Given the description of an element on the screen output the (x, y) to click on. 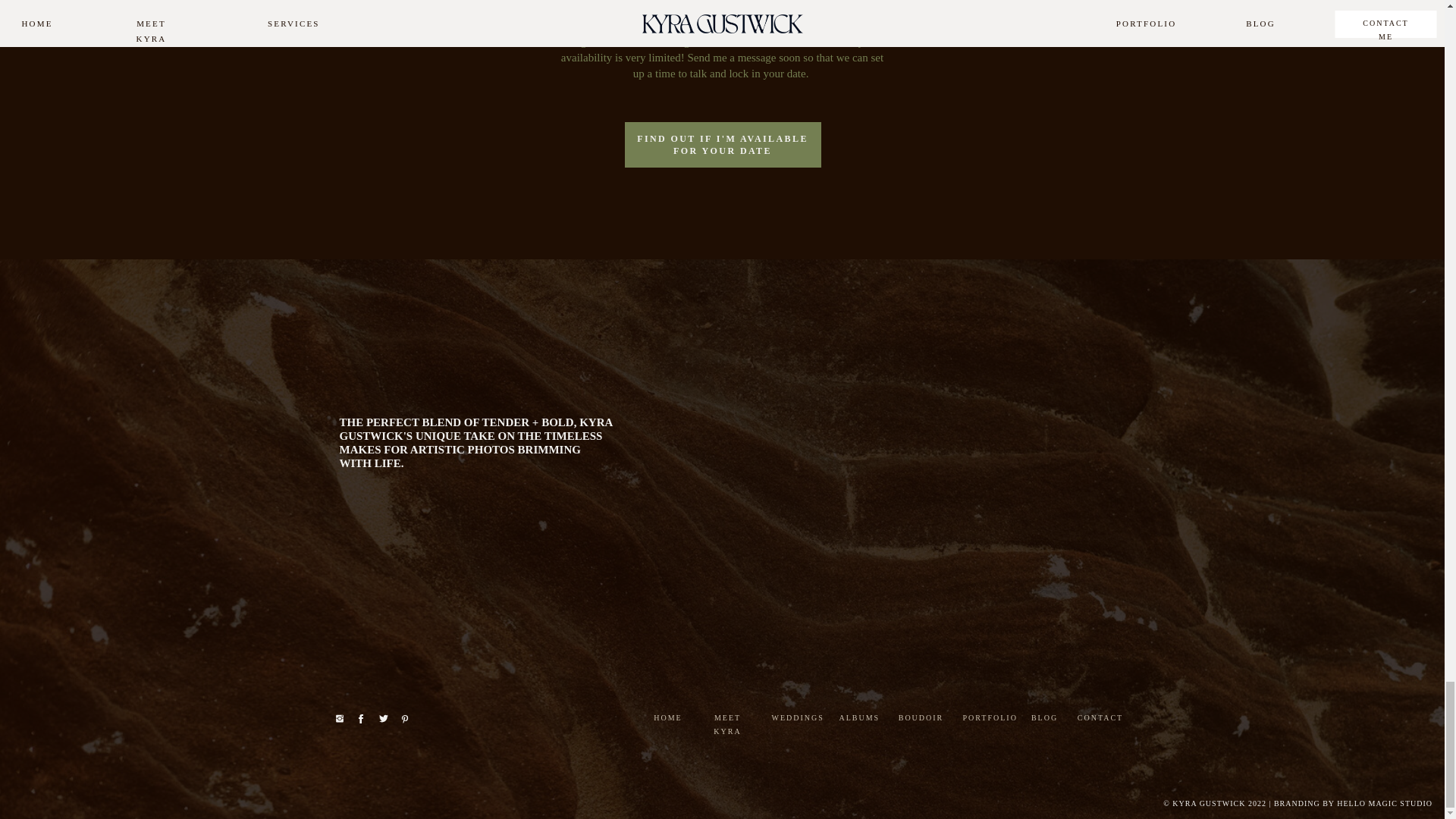
FIND OUT IF I'M AVAILABLE FOR YOUR DATE (721, 144)
MEET KYRA (727, 717)
HOME (668, 717)
